Given the description of an element on the screen output the (x, y) to click on. 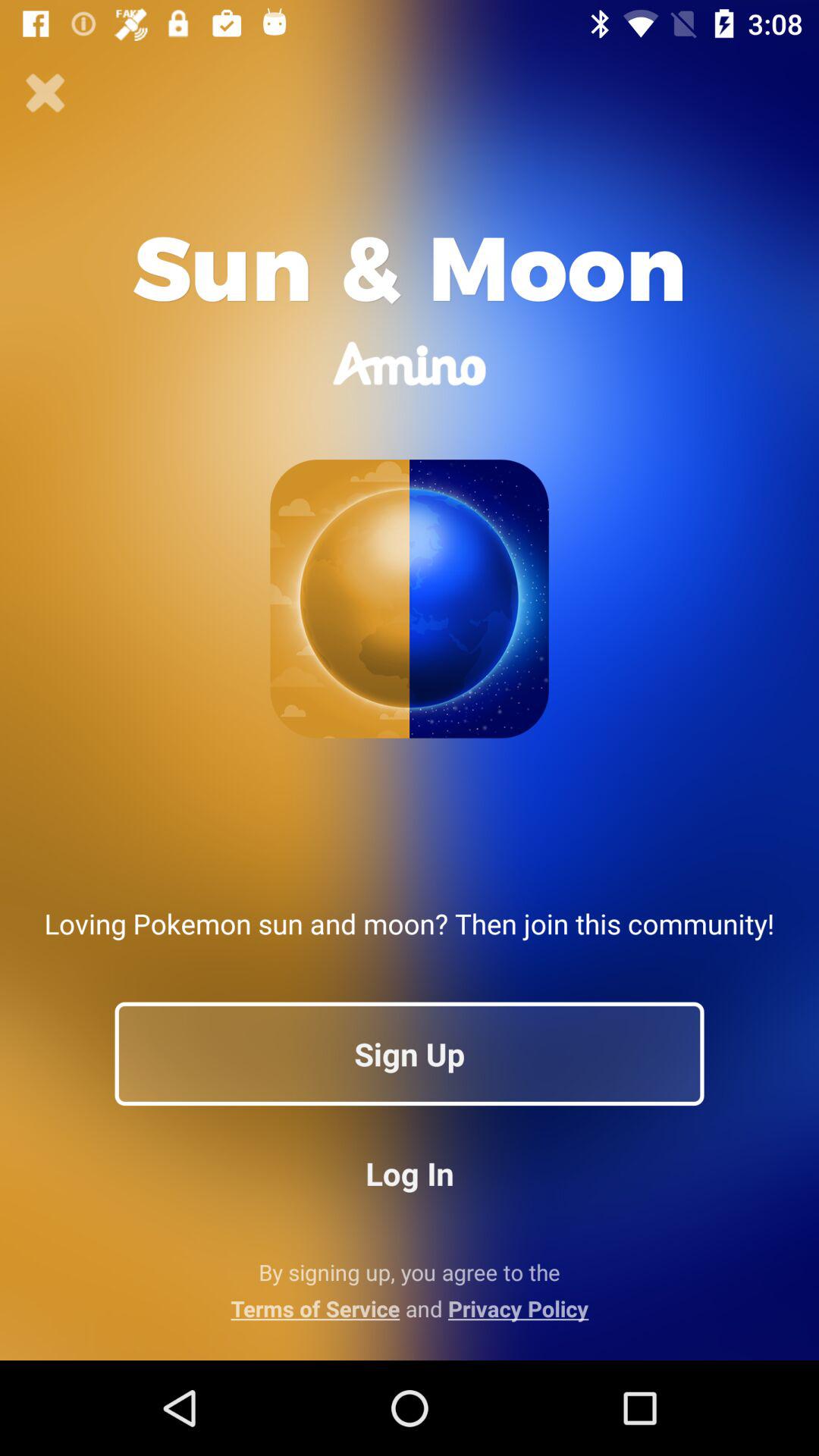
turn off the terms of service icon (409, 1308)
